Given the description of an element on the screen output the (x, y) to click on. 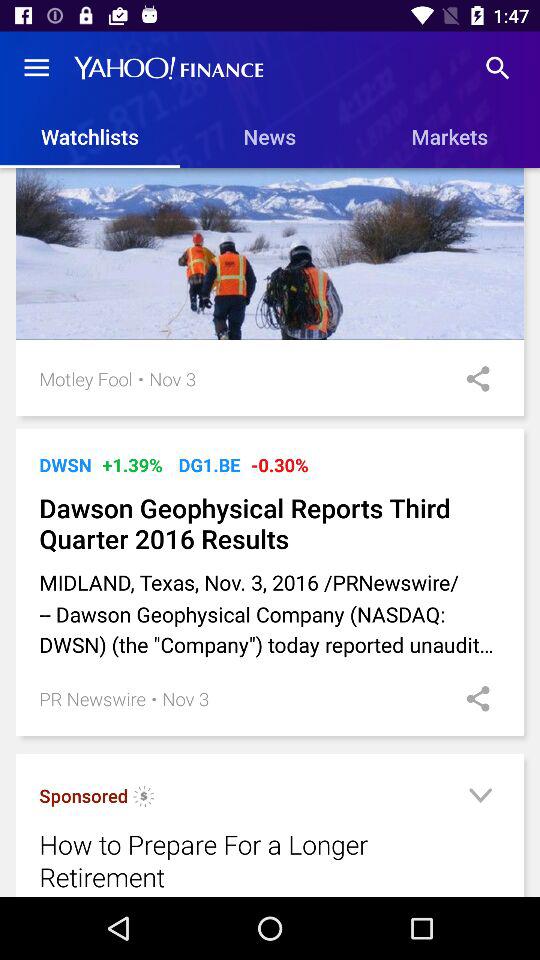
down (480, 798)
